Given the description of an element on the screen output the (x, y) to click on. 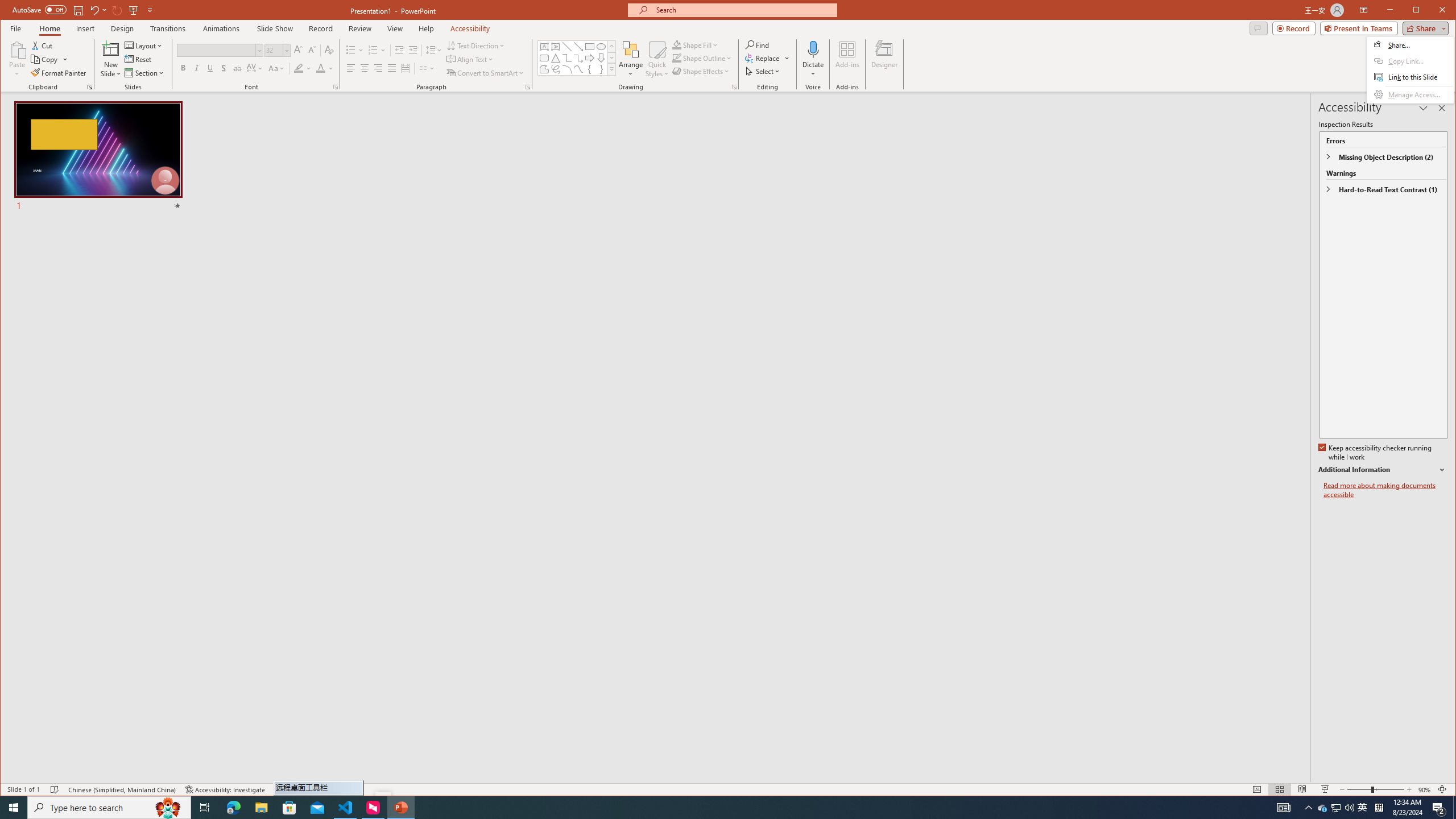
Oval (601, 46)
Show desktop (1454, 807)
Text Highlight Color Yellow (298, 68)
Shape Fill Orange, Accent 2 (676, 44)
Connector: Elbow (567, 57)
Select (763, 70)
Align Text (470, 59)
Decrease Indent (399, 49)
Columns (426, 68)
